Given the description of an element on the screen output the (x, y) to click on. 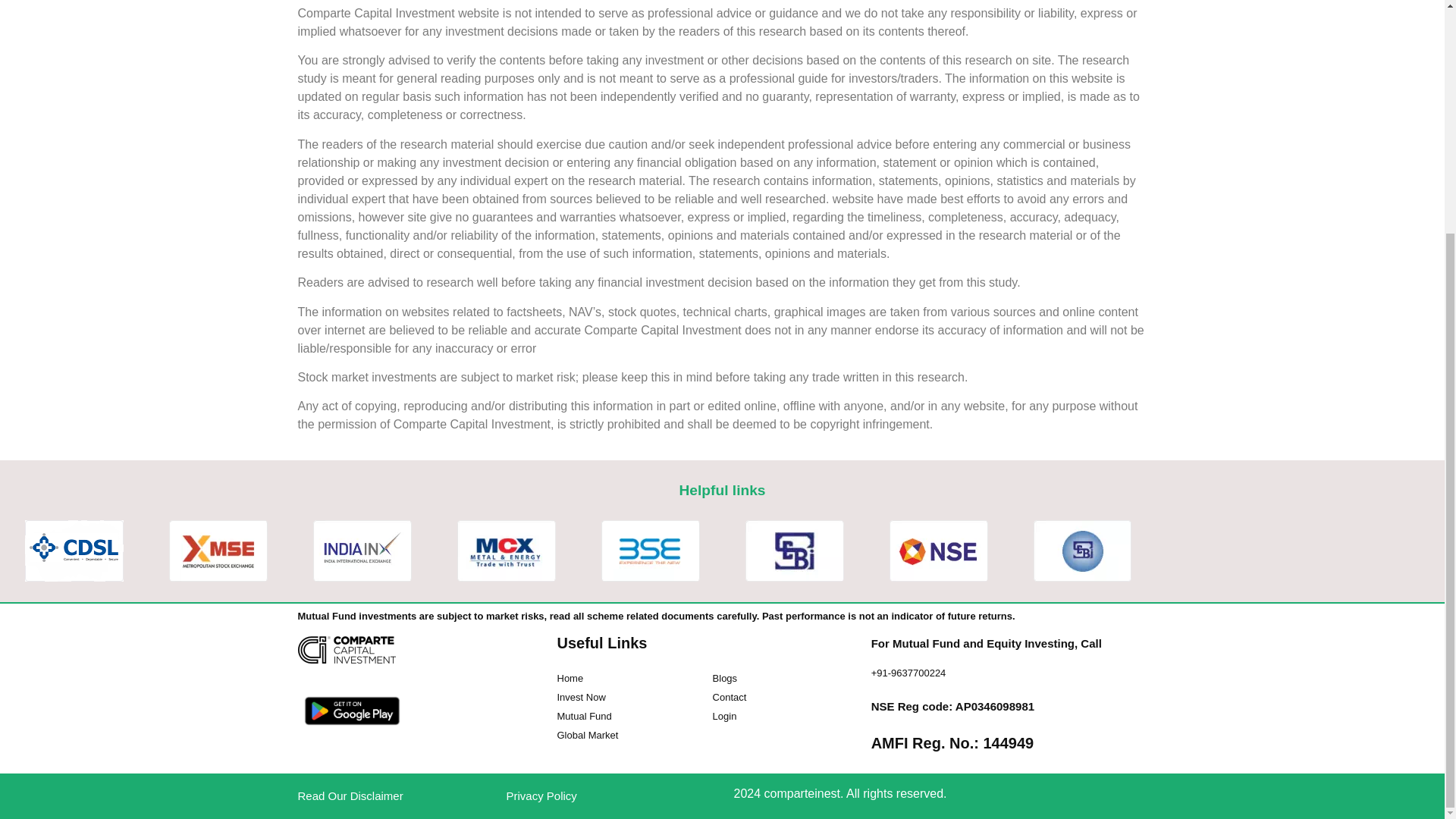
Contact (726, 696)
Home (569, 678)
Invest Now (580, 696)
Blogs (722, 678)
Privacy Policy (541, 796)
Global Market (586, 734)
Login (721, 715)
Read Our Disclaimer (350, 796)
Mutual Fund (583, 715)
